Given the description of an element on the screen output the (x, y) to click on. 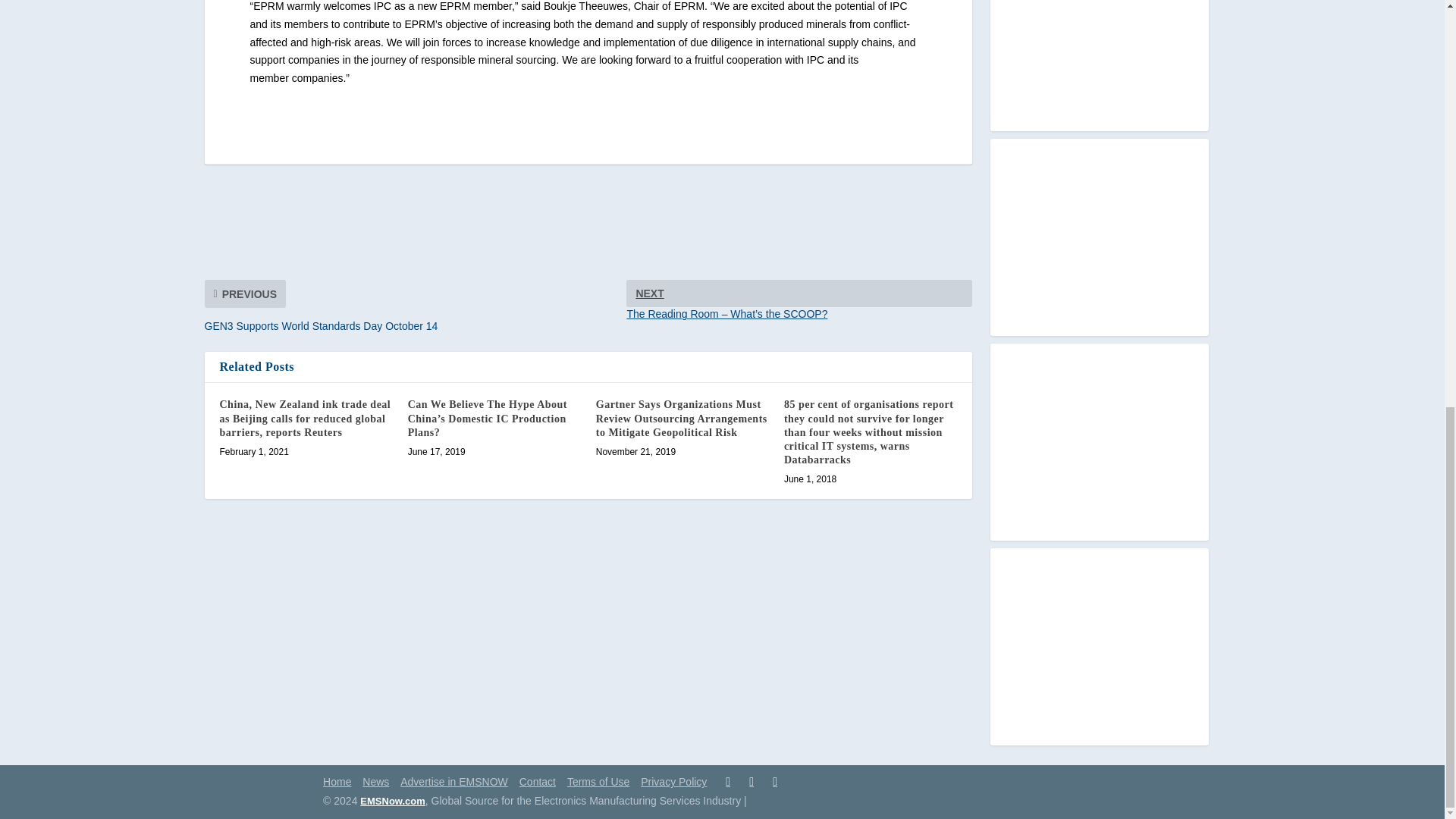
EMSNow.com (392, 800)
